Given the description of an element on the screen output the (x, y) to click on. 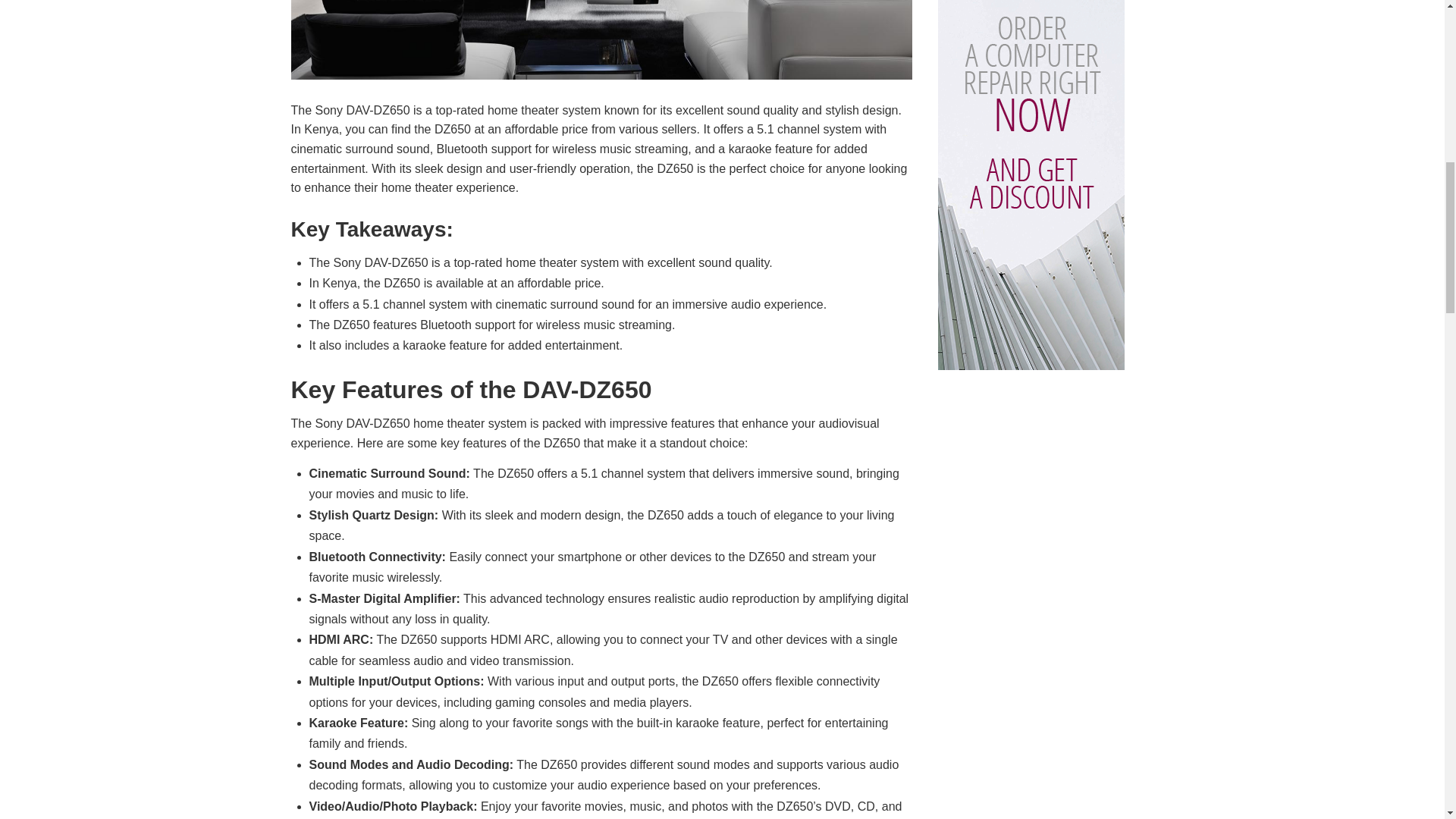
DZ650 Price in Kenya: Home Theater Excellence 1 (601, 39)
